Given the description of an element on the screen output the (x, y) to click on. 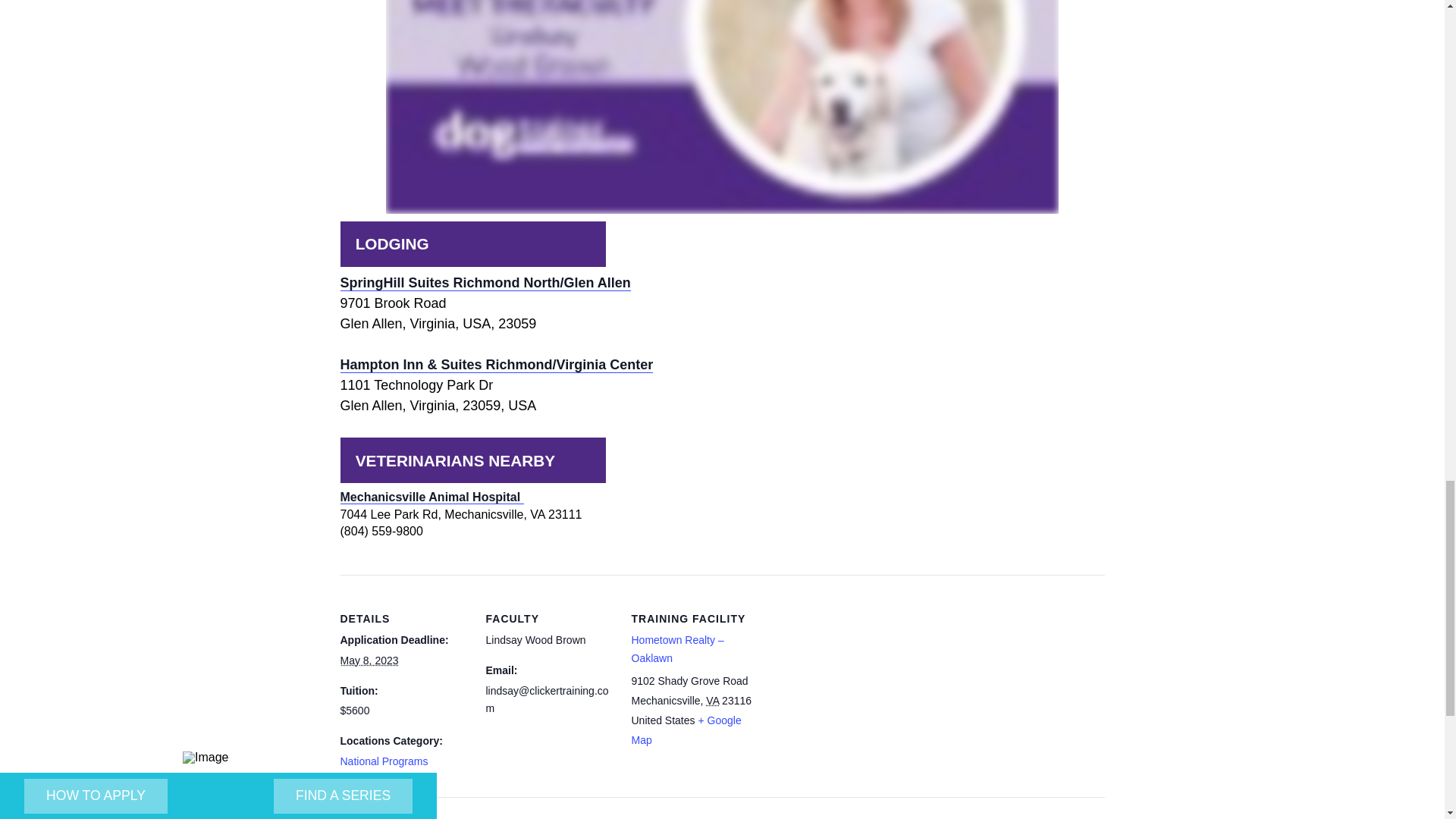
Virginia (712, 700)
Click to view a Google Map (685, 730)
2023-05-08 (368, 660)
